Given the description of an element on the screen output the (x, y) to click on. 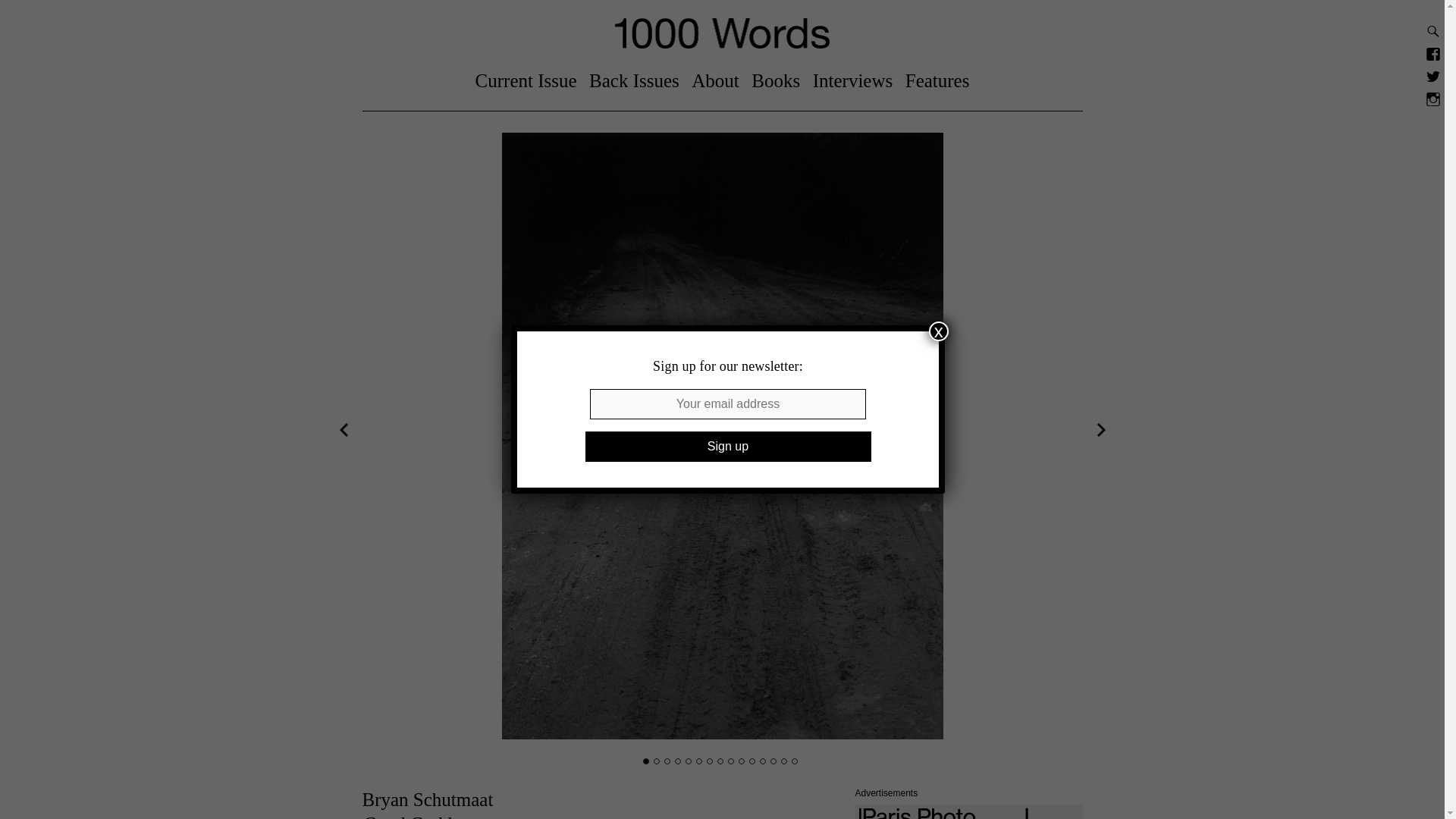
Current Issue (526, 80)
About (715, 80)
Sign up (727, 446)
Sign up (727, 446)
Interviews (852, 80)
Books (775, 80)
Features (937, 80)
Back Issues (634, 80)
x (938, 331)
